Given the description of an element on the screen output the (x, y) to click on. 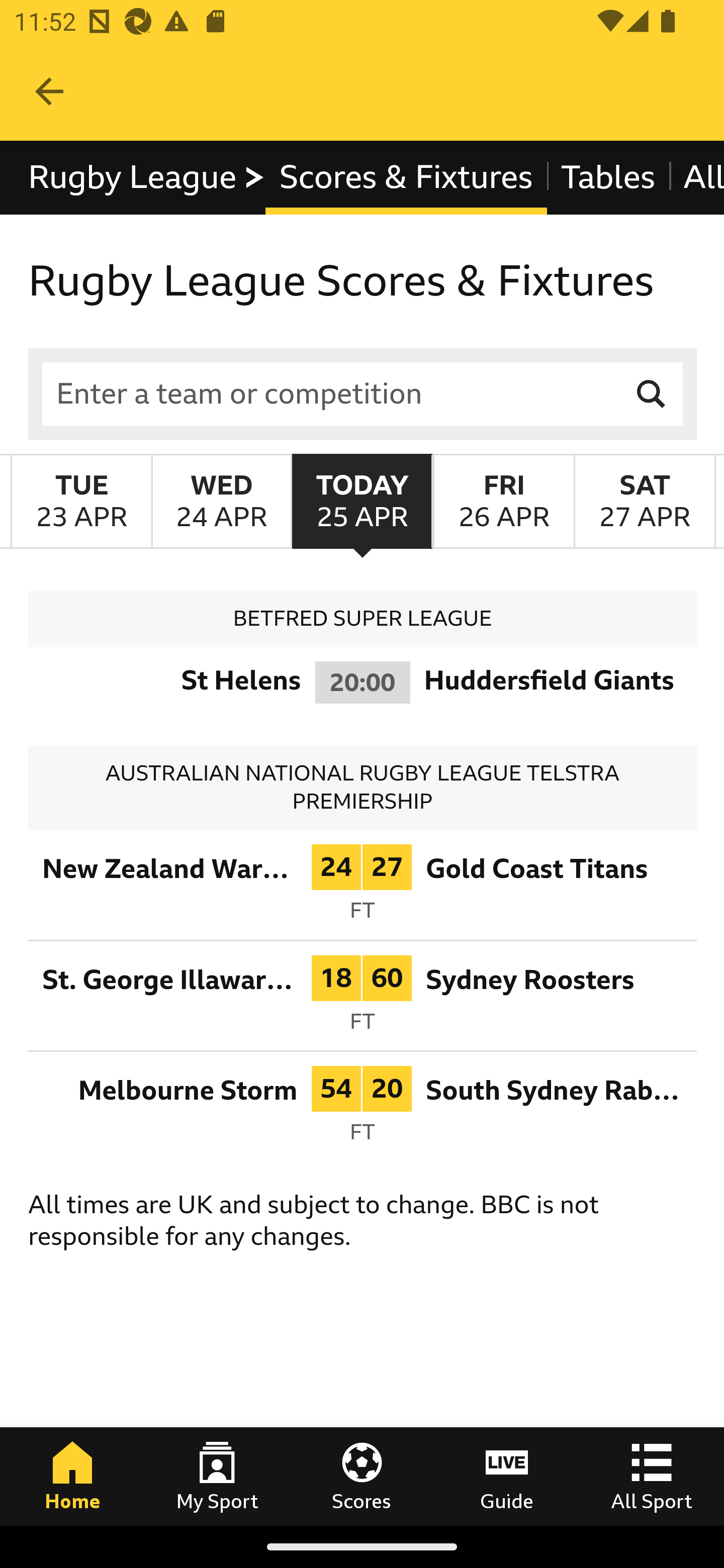
Navigate up (49, 91)
Rugby League  (146, 177)
Scores & Fixtures (405, 177)
Tables (607, 177)
Search (651, 393)
TuesdayApril 23rd Tuesday April 23rd (81, 500)
WednesdayApril 24th Wednesday April 24th (221, 500)
FridayApril 26th Friday April 26th (502, 500)
SaturdayApril 27th Saturday April 27th (644, 500)
My Sport (216, 1475)
Scores (361, 1475)
Guide (506, 1475)
All Sport (651, 1475)
